Given the description of an element on the screen output the (x, y) to click on. 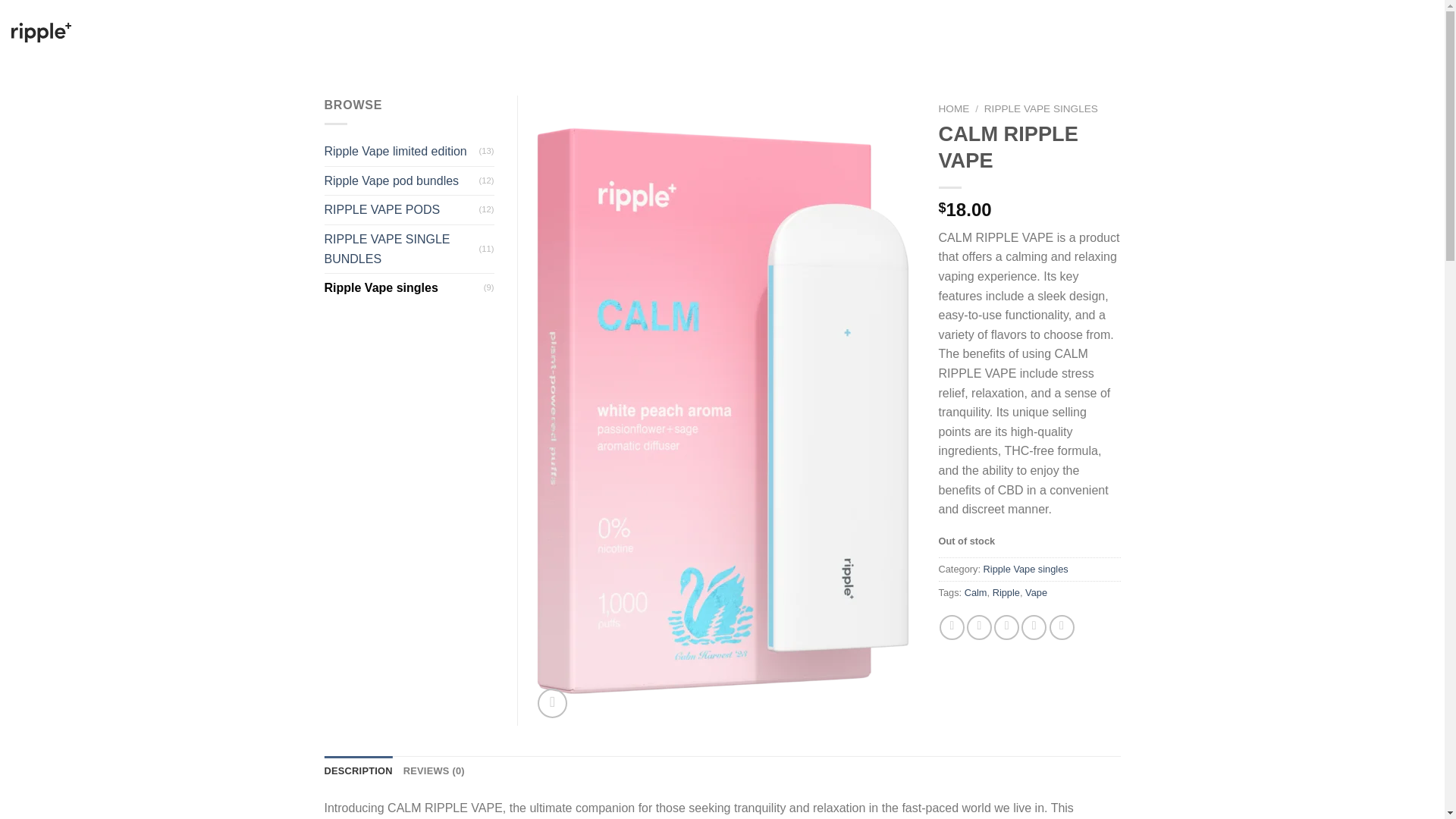
RIPPLE VAPE SINGLES (832, 32)
RIPPLE VAPE SINGLE BUNDLES (686, 32)
Zoom (552, 703)
Share on LinkedIn (1061, 627)
RIPPLE VAPE PODS (548, 32)
RIPPLE VAPE POD BUNDLES (419, 32)
ripple-vape.org (87, 32)
RIPPLE VAPE SINGLES (1040, 108)
Search (1304, 32)
Ripple Vape pod bundles (401, 181)
RIPPLE VAPE LIMITED EDITION (261, 32)
Share on Twitter (978, 627)
Ripple Vape singles (1026, 568)
Ripple (1006, 592)
Cart (1387, 32)
